Given the description of an element on the screen output the (x, y) to click on. 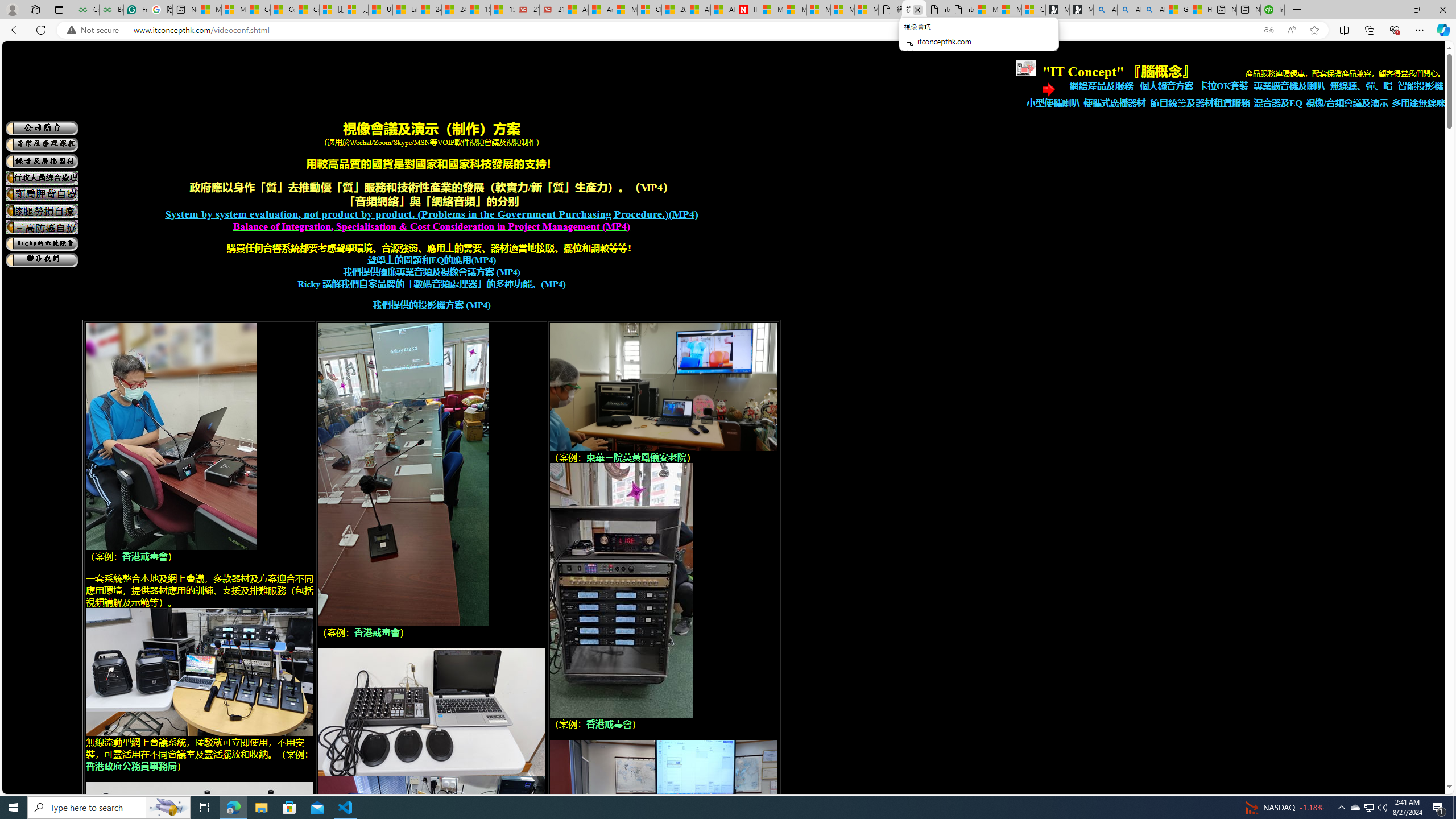
itconcepthk.com/projector_solutions.mp4 (961, 9)
Best SSL Certificates Provider in India - GeeksforGeeks (111, 9)
Free AI Writing Assistance for Students | Grammarly (135, 9)
